Given the description of an element on the screen output the (x, y) to click on. 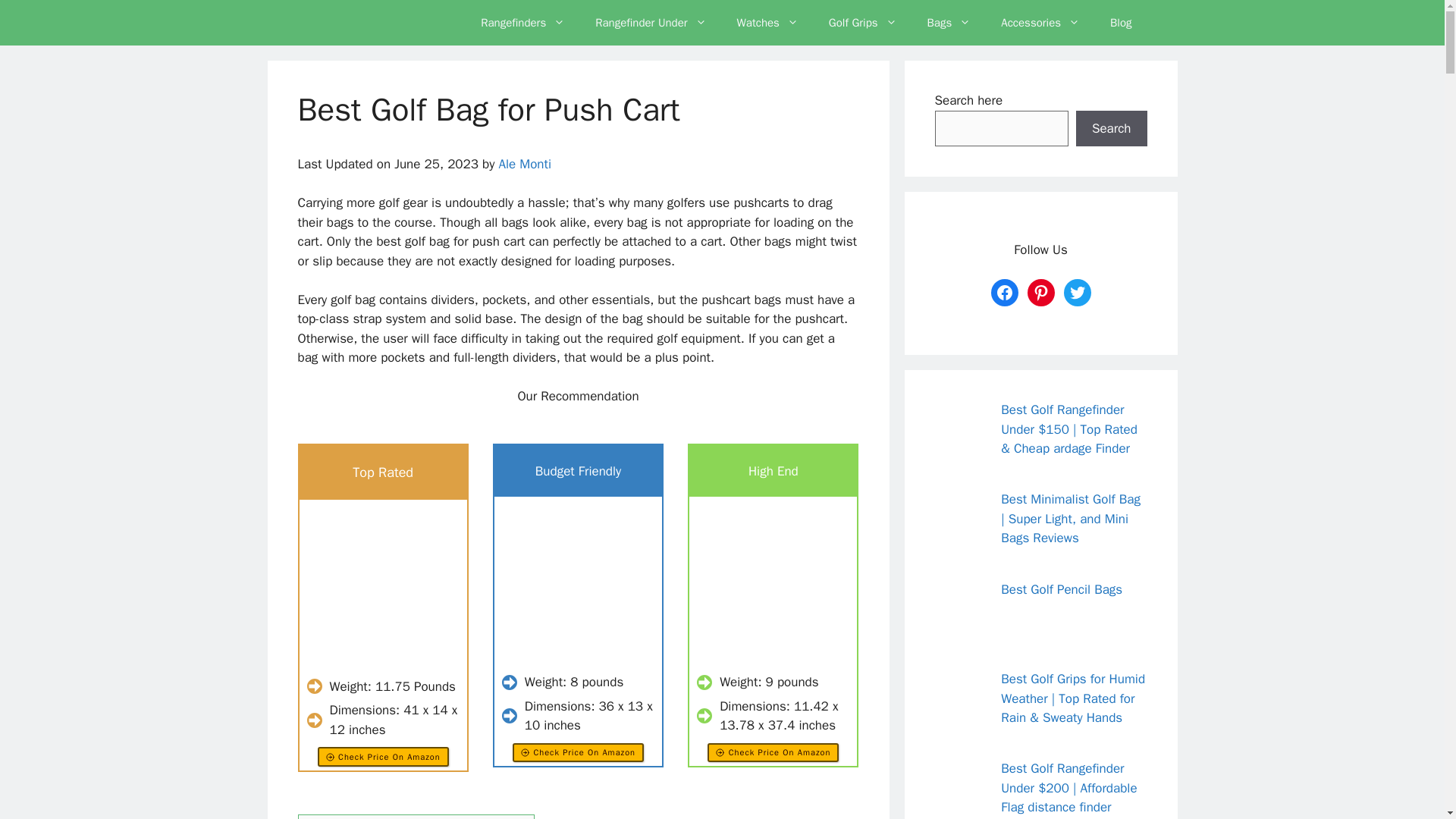
Accessories (1039, 22)
Golf Vela (371, 22)
Rangefinders (522, 22)
Rangefinder Under (649, 22)
Bags (949, 22)
Watches (767, 22)
Golf Grips (862, 22)
Blog (1120, 22)
